Given the description of an element on the screen output the (x, y) to click on. 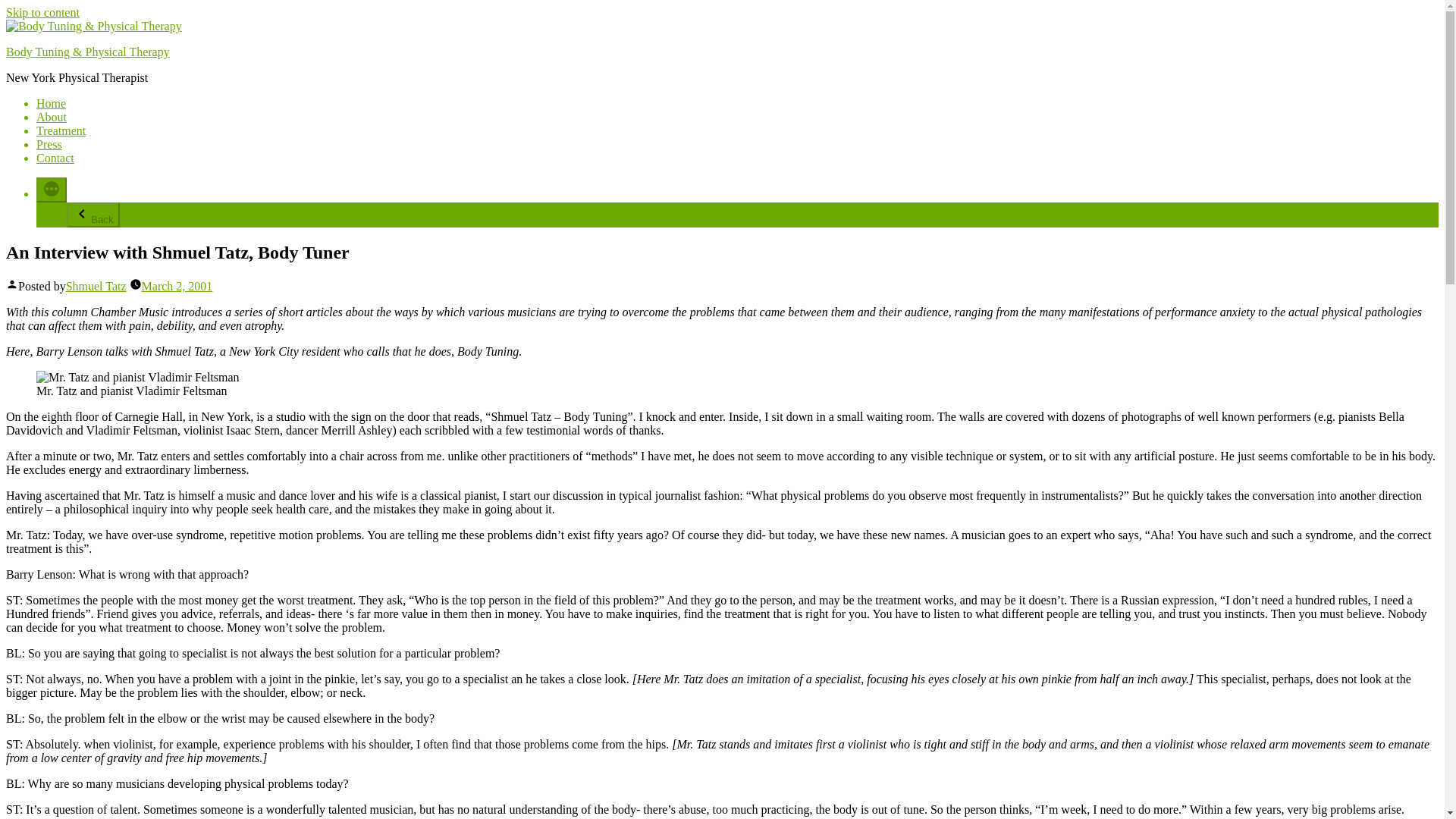
Shmuel Tatz (95, 286)
Home (50, 103)
Treatment (60, 130)
Skip to content (42, 11)
Press (49, 144)
About (51, 116)
Back (92, 214)
March 2, 2001 (176, 286)
Contact (55, 157)
